Given the description of an element on the screen output the (x, y) to click on. 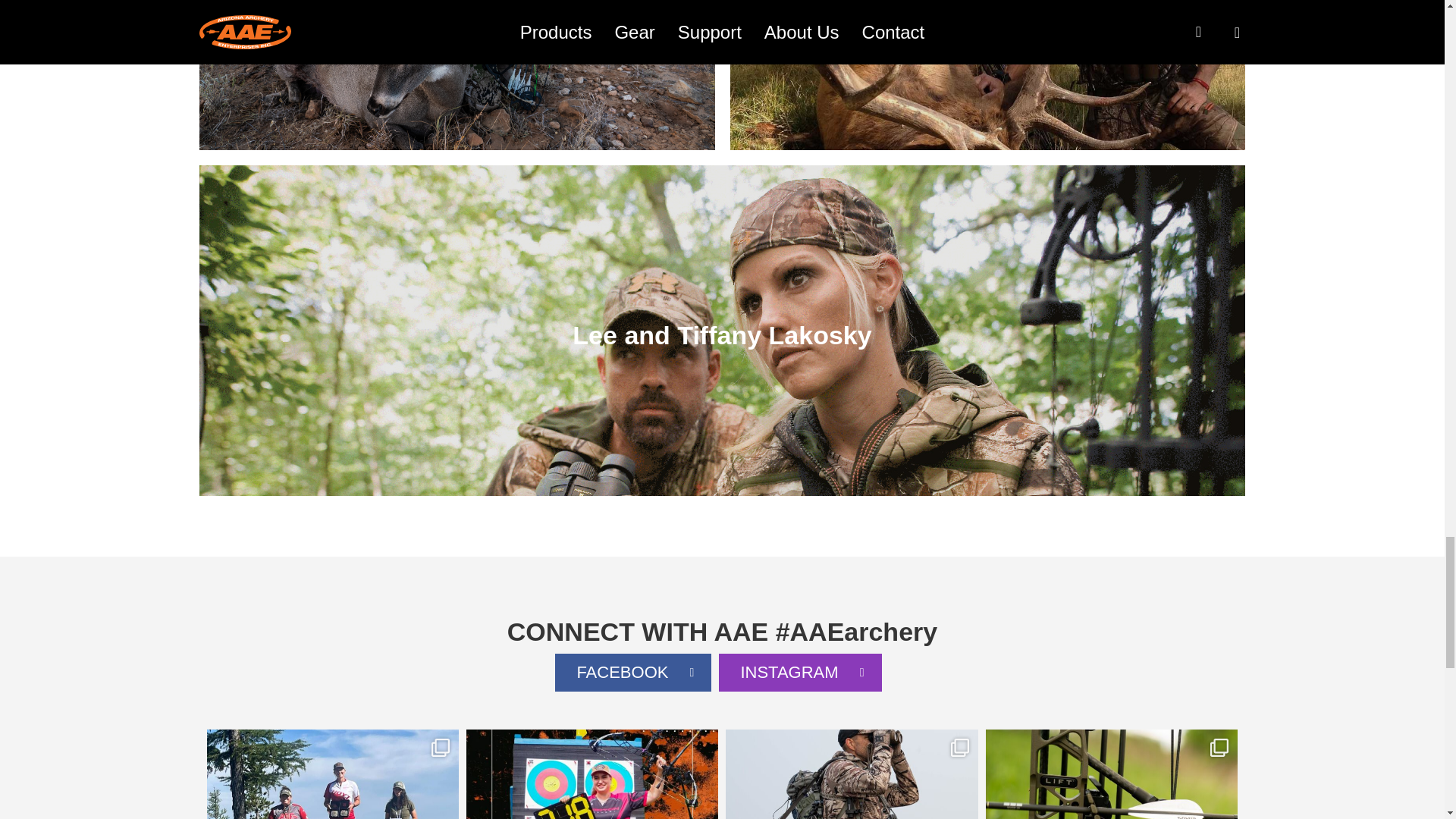
INSTAGRAM (799, 672)
FACEBOOK (632, 672)
